Given the description of an element on the screen output the (x, y) to click on. 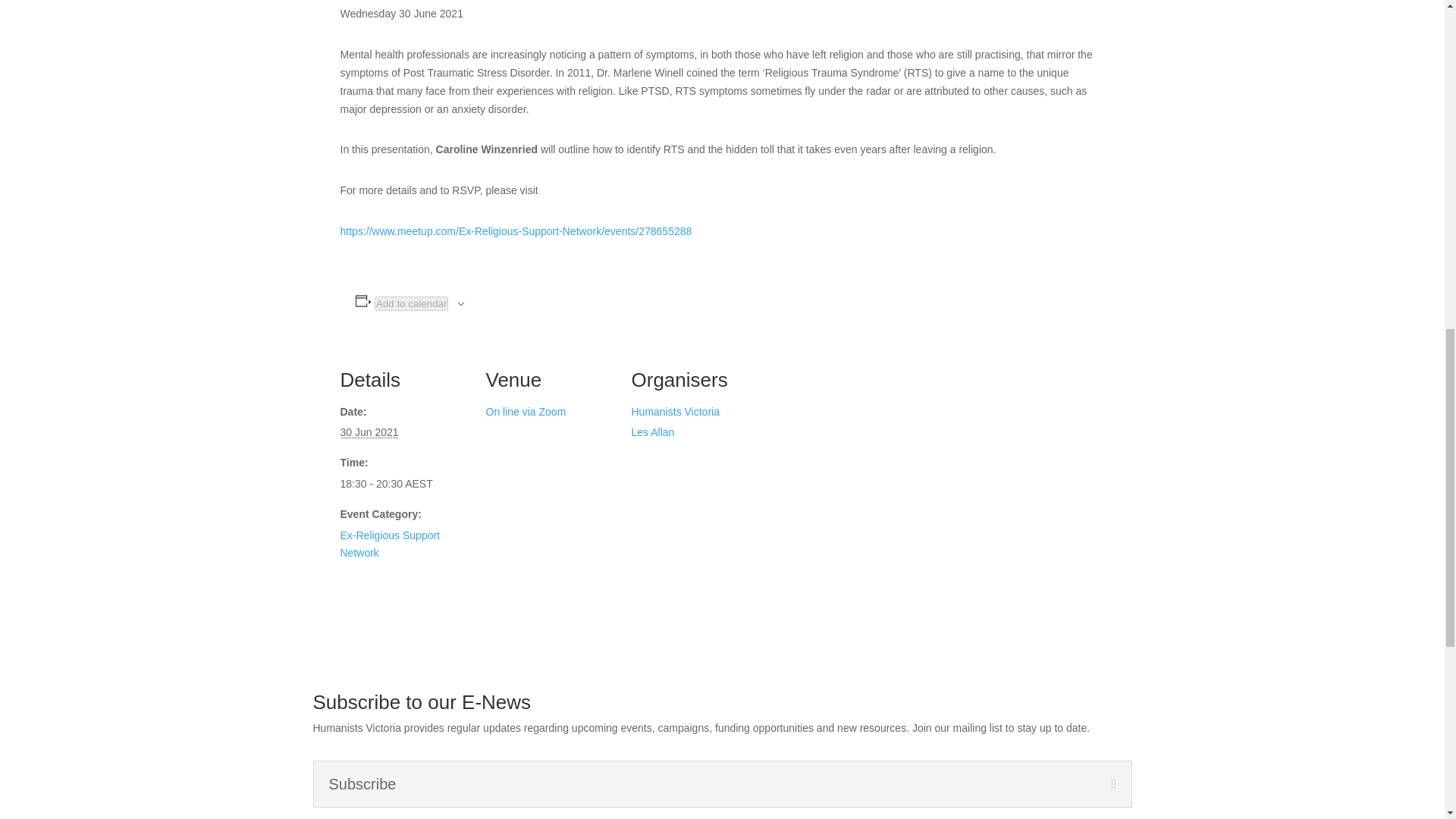
2021-06-30 (368, 431)
Ex-Religious Support Network (389, 544)
Add to calendar (411, 303)
Les Allan (652, 431)
2021-06-30 (403, 484)
Humanists Victoria (674, 411)
On line via Zoom (525, 411)
Humanists Victoria (674, 411)
Les Allan (652, 431)
